Given the description of an element on the screen output the (x, y) to click on. 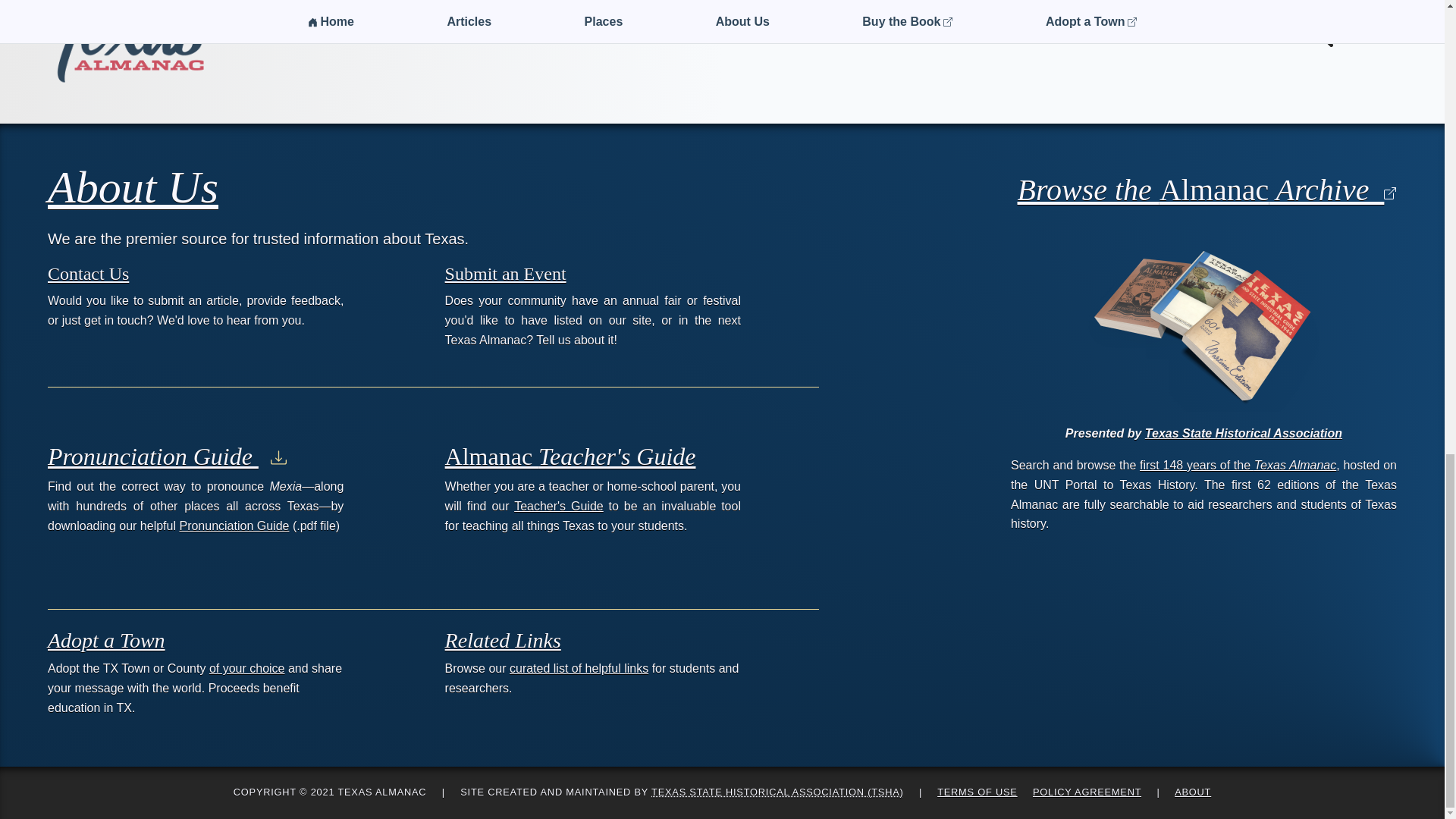
of your choice (247, 667)
Contact Us (88, 273)
Submit an Event (505, 273)
curated list of helpful links (578, 667)
Pronunciation Guide (167, 456)
About Us (133, 187)
Browse the Almanac Archive  (1203, 189)
Pronunciation Guide (233, 525)
Site Search (1352, 32)
Adopt a Town (106, 639)
Related Links (502, 639)
Teacher's Guide (558, 505)
Almanac Teacher's Guide (570, 456)
